Given the description of an element on the screen output the (x, y) to click on. 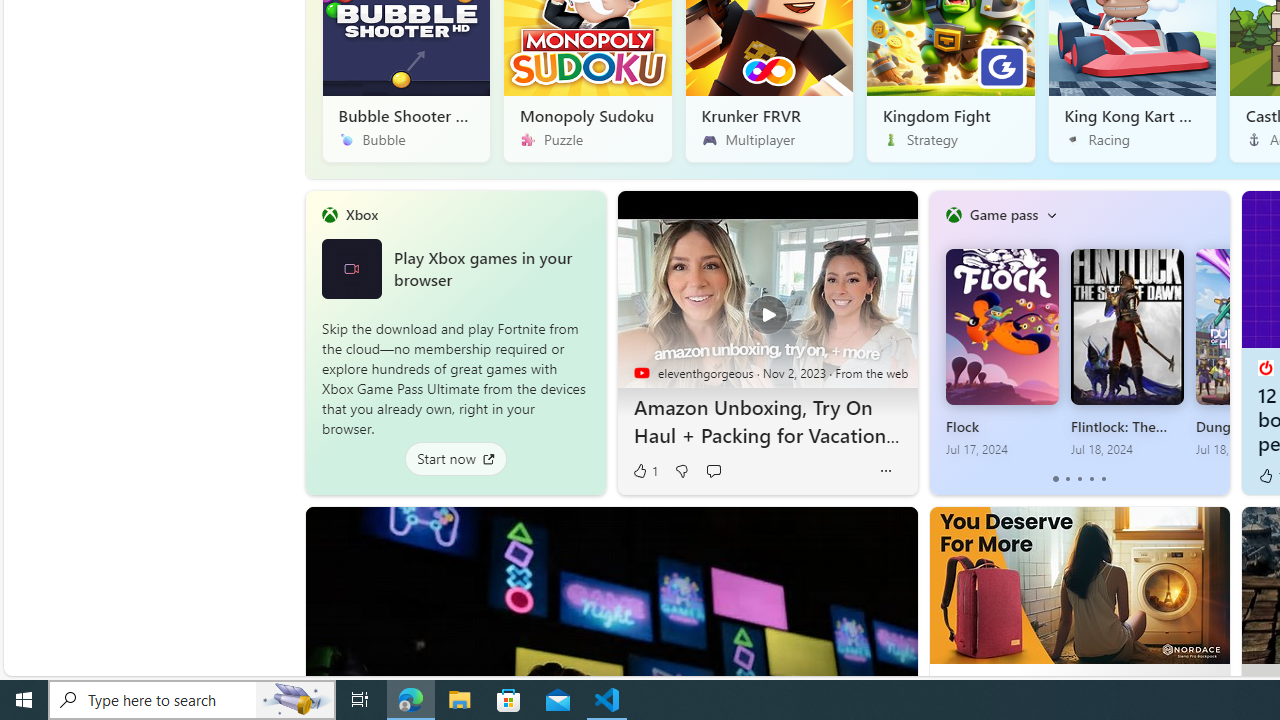
Class: next-flipper (1218, 342)
Amazon Unboxing, Try On Haul + Packing for Vacation Vlog (767, 421)
eleventhgorgeous (641, 372)
Amazon Unboxing, Try On Haul + Packing for Vacation Vlog (766, 303)
Hide this story (857, 530)
tab-2 (1078, 479)
Pocket-lint (1264, 367)
Xbox (361, 214)
Flock Jul 17, 2024 (1001, 353)
1 Like (644, 471)
tab-4 (1102, 479)
Game pass (1003, 214)
